Given the description of an element on the screen output the (x, y) to click on. 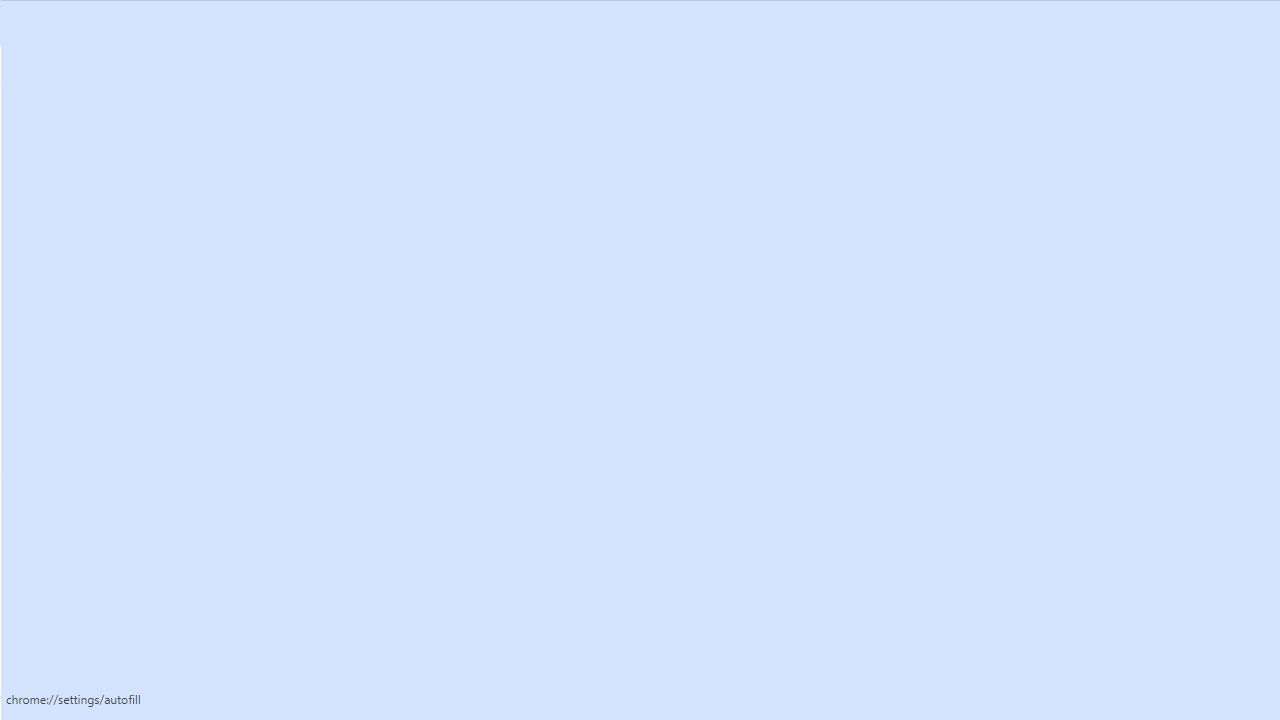
You and Google (124, 170)
Sign in - Google Accounts (870, 20)
Downloads (124, 547)
Languages (124, 507)
Autofill and passwords (124, 210)
Default browser (124, 410)
